Given the description of an element on the screen output the (x, y) to click on. 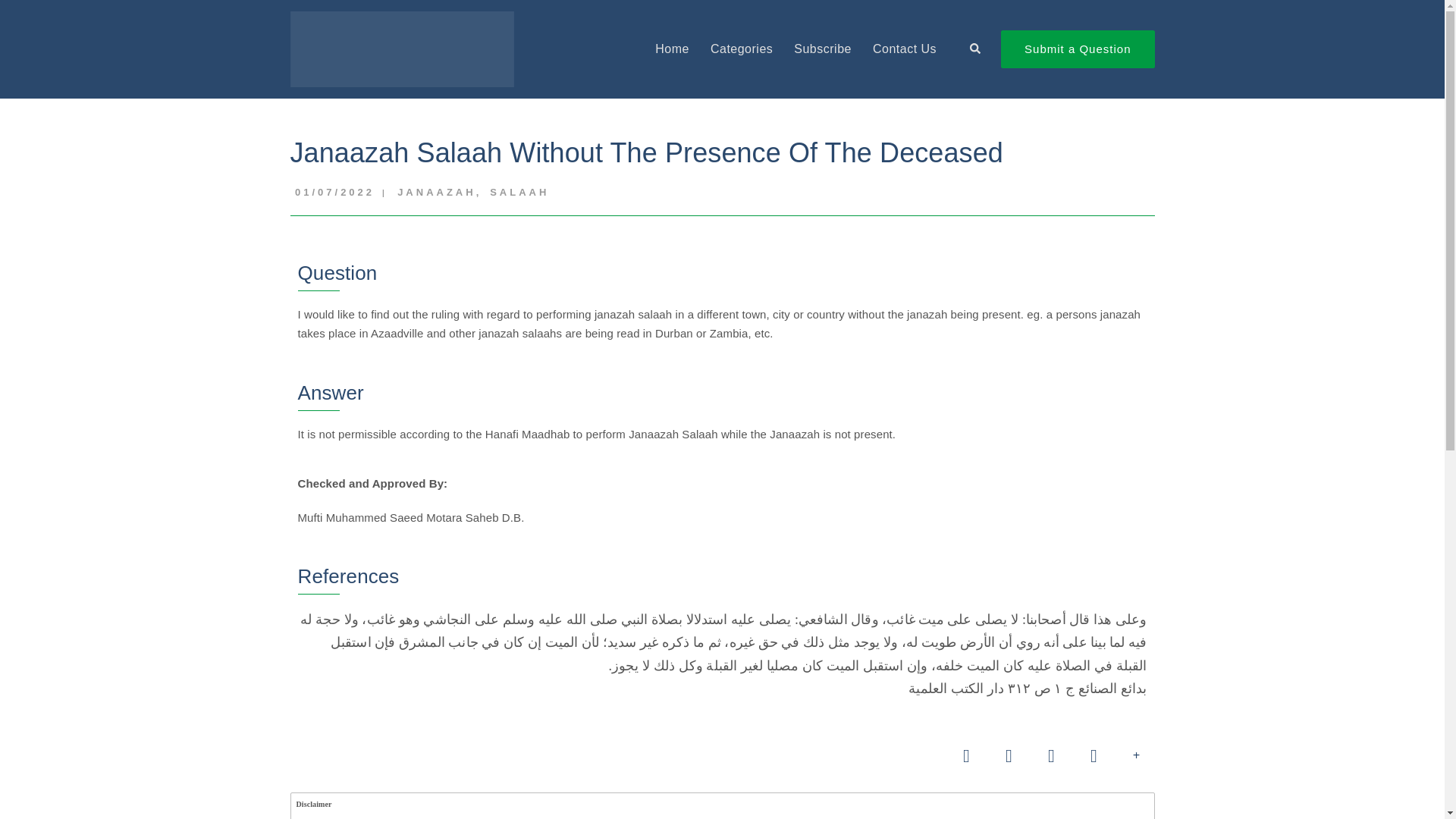
SALAAH (517, 195)
Telegram (1008, 755)
Subscribe (822, 49)
JANAAZAH (435, 195)
More share links (1136, 755)
WhatsApp (965, 755)
Contact Us (904, 49)
Submit a Question (1077, 48)
Categories (741, 49)
Print this article  (1050, 755)
